Given the description of an element on the screen output the (x, y) to click on. 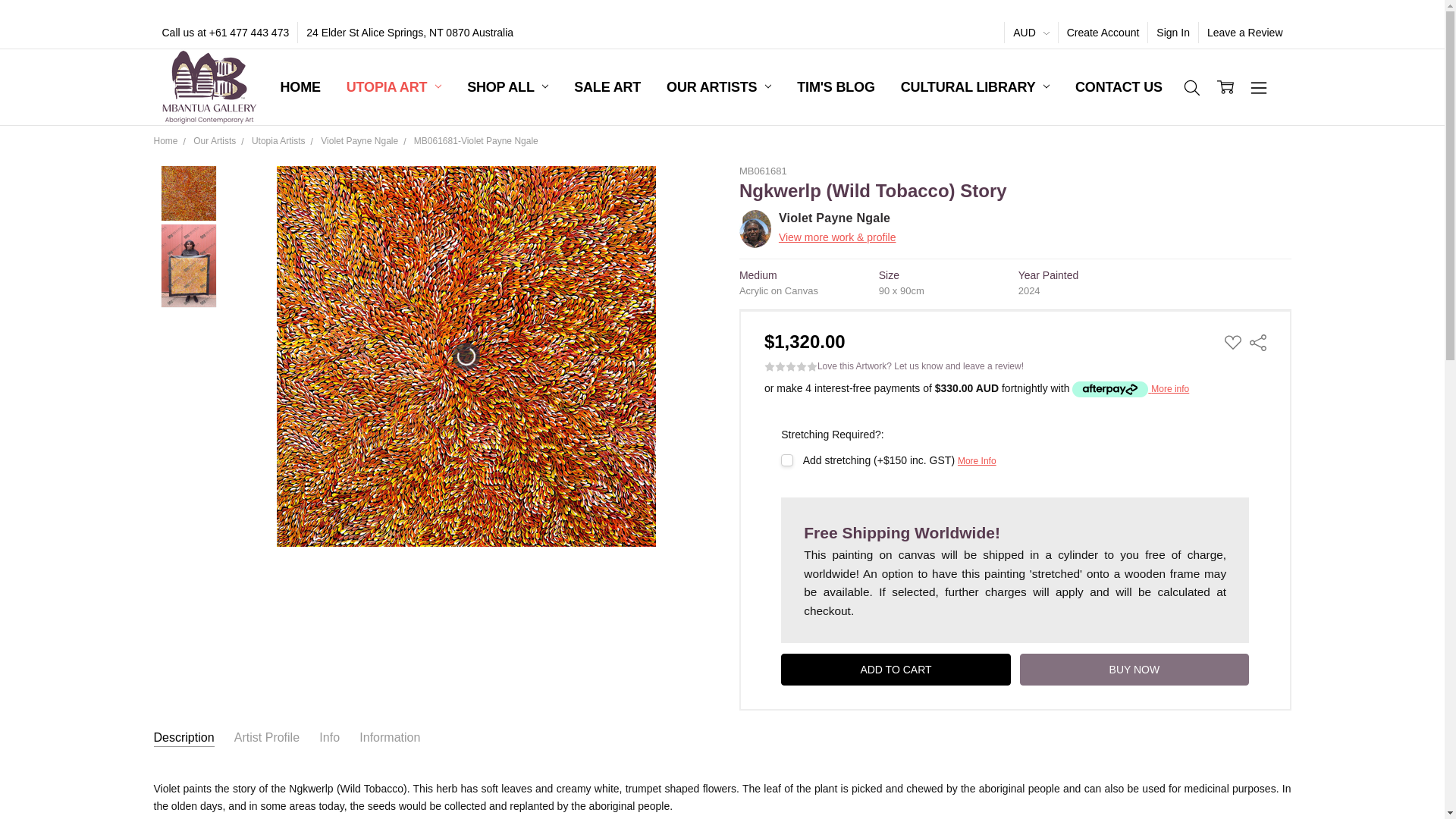
24 Elder St Alice Springs, NT 0870 Australia (409, 32)
Mbantua Gallery (208, 87)
Violet Payne Ngale - MB061681 (187, 193)
Show All (287, 87)
Leave a Review (1244, 32)
AUD (1030, 32)
UTOPIA ART (393, 87)
Buy Now (1134, 669)
Violet Payne Ngale - MB061681 (187, 265)
Sign In (1173, 32)
Click here for more detailed information about stretching. (976, 460)
HOME (299, 87)
Create Account (1103, 32)
